Given the description of an element on the screen output the (x, y) to click on. 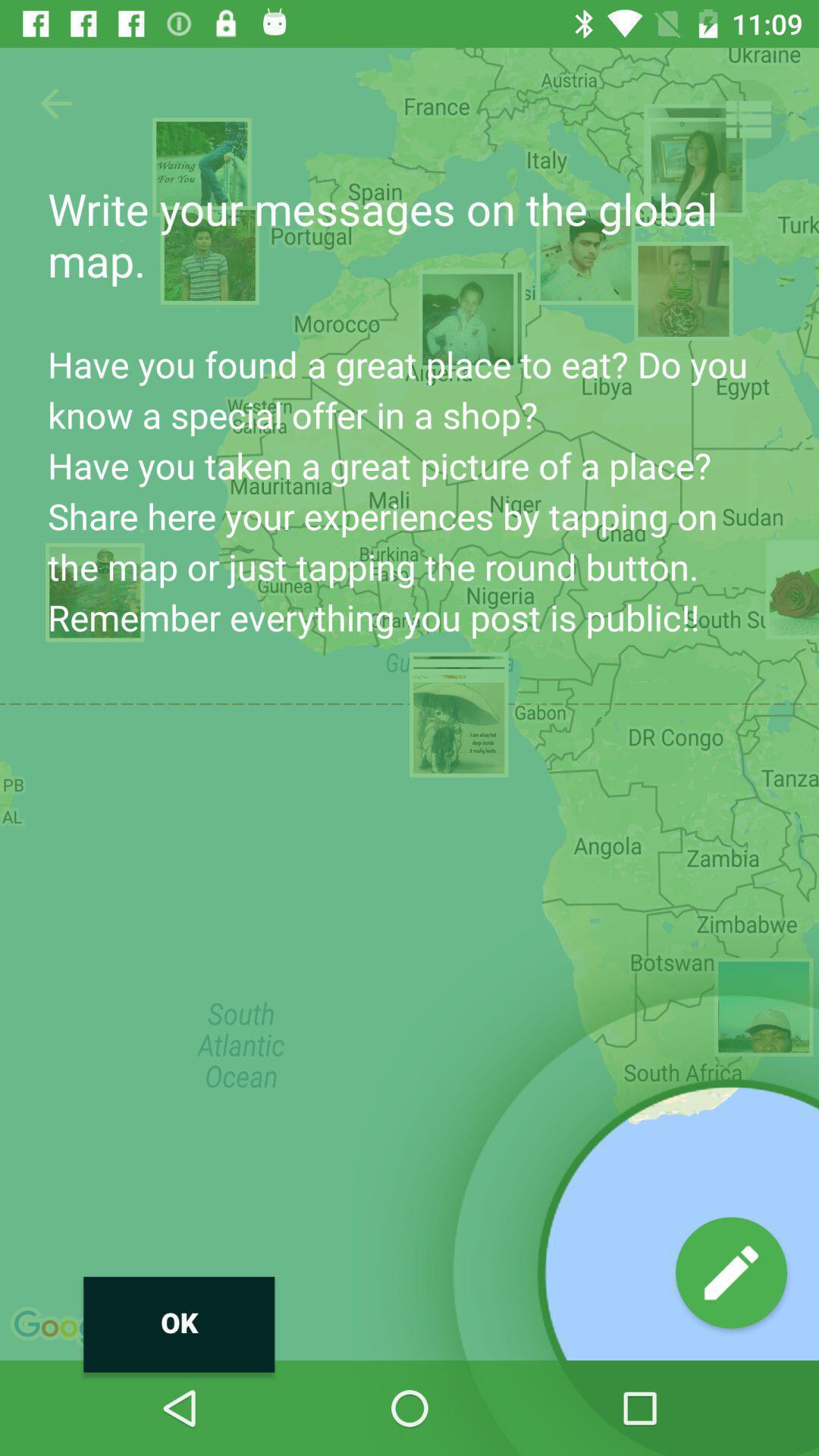
choose icon next to ok item (731, 1272)
